Given the description of an element on the screen output the (x, y) to click on. 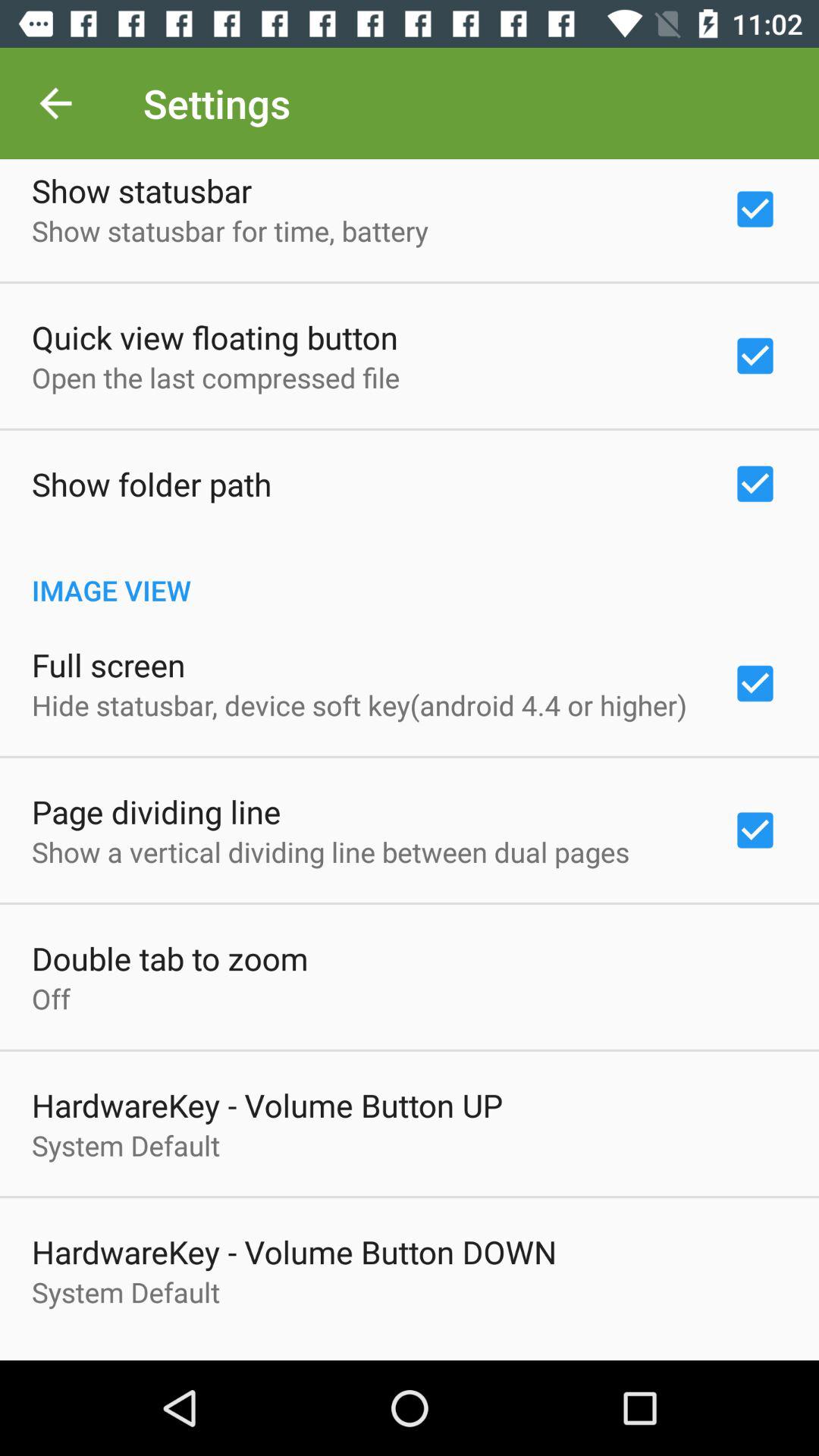
open full screen item (108, 664)
